Given the description of an element on the screen output the (x, y) to click on. 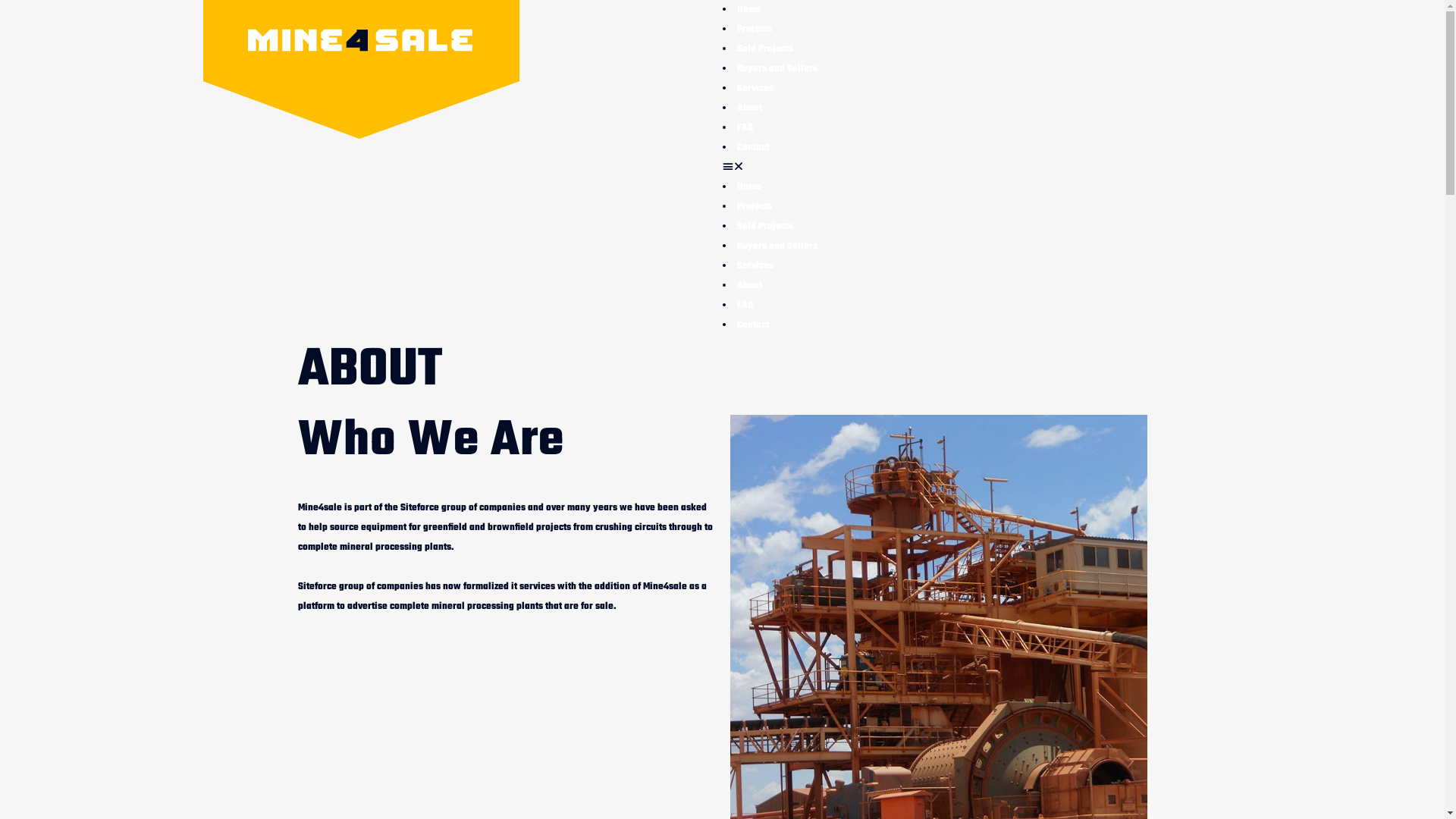
Services Element type: text (755, 265)
Buyers and Sellers Element type: text (777, 246)
Projects Element type: text (754, 29)
Contact Element type: text (752, 324)
Buyers and Sellers Element type: text (777, 68)
About Element type: text (749, 108)
Home Element type: text (749, 9)
Sold Projects Element type: text (765, 226)
Contact Element type: text (752, 147)
About Element type: text (749, 285)
Services Element type: text (755, 88)
FAQ Element type: text (745, 305)
Sold Projects Element type: text (765, 48)
Home Element type: text (749, 186)
FAQ Element type: text (745, 127)
Projects Element type: text (754, 206)
